Given the description of an element on the screen output the (x, y) to click on. 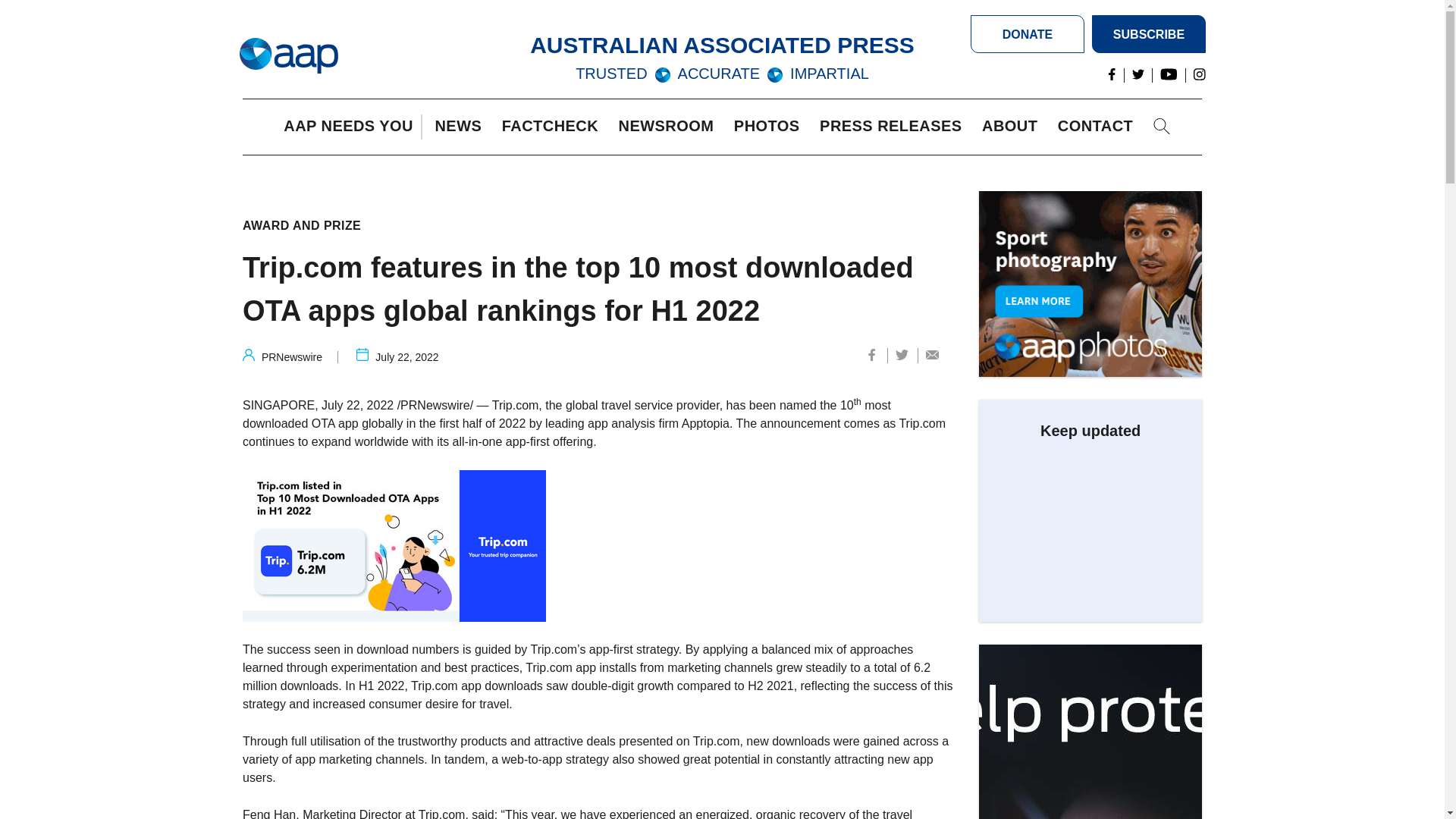
NEWS (461, 126)
DONATE (1027, 34)
SUBSCRIBE (1148, 34)
Home (288, 56)
ABOUT (1013, 126)
AAP NEEDS YOU (351, 126)
PHOTOS (770, 126)
AUSTRALIAN ASSOCIATED PRESS (721, 44)
CONTACT (1099, 126)
FACTCHECK (553, 126)
PRESS RELEASES (894, 126)
NEWSROOM (670, 126)
Form 0 (1090, 525)
